Given the description of an element on the screen output the (x, y) to click on. 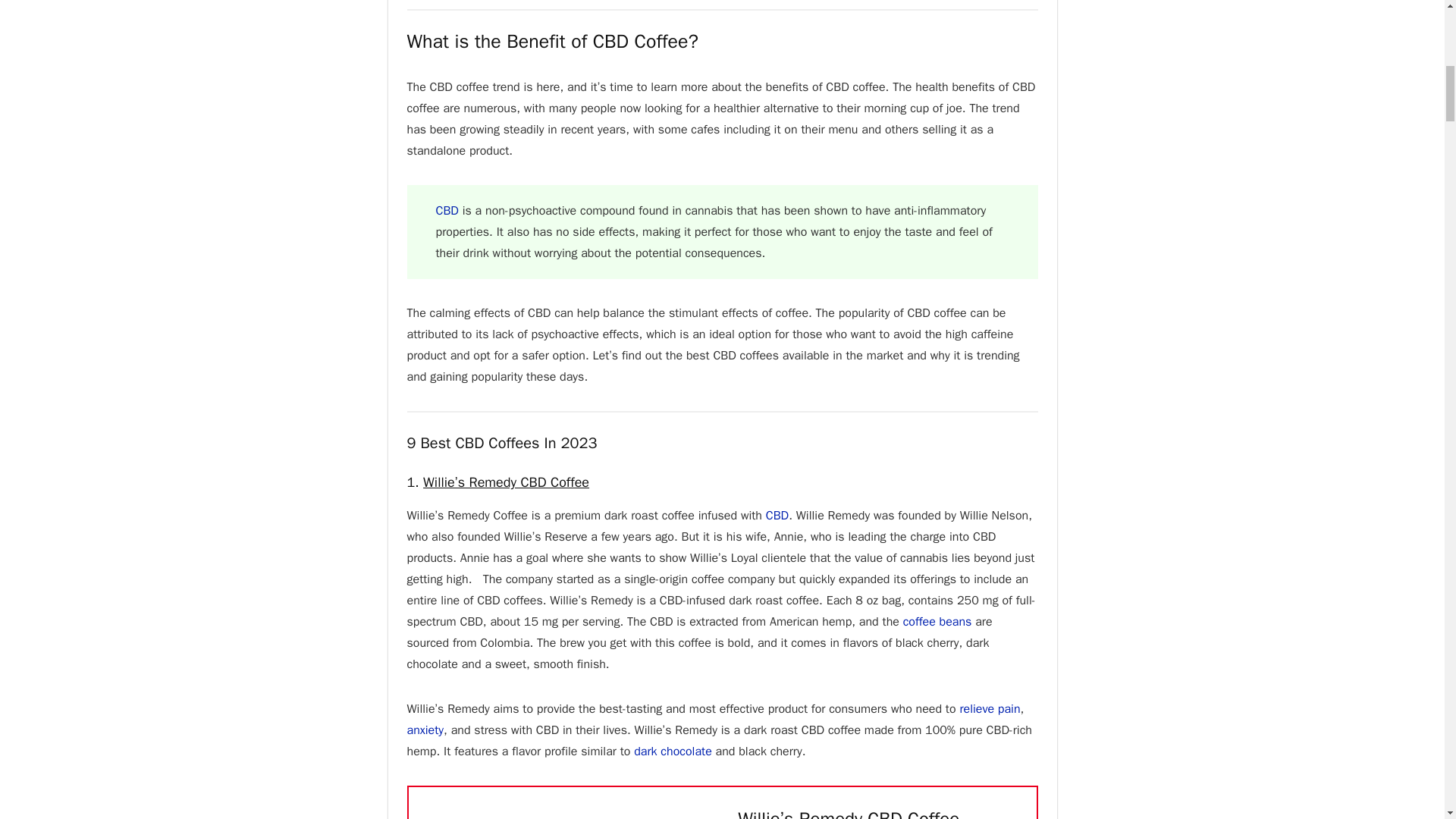
relieve pain (989, 708)
CBD (777, 515)
anxiety (425, 729)
coffee beans (937, 621)
CBD (446, 210)
dark chocolate (672, 751)
